Given the description of an element on the screen output the (x, y) to click on. 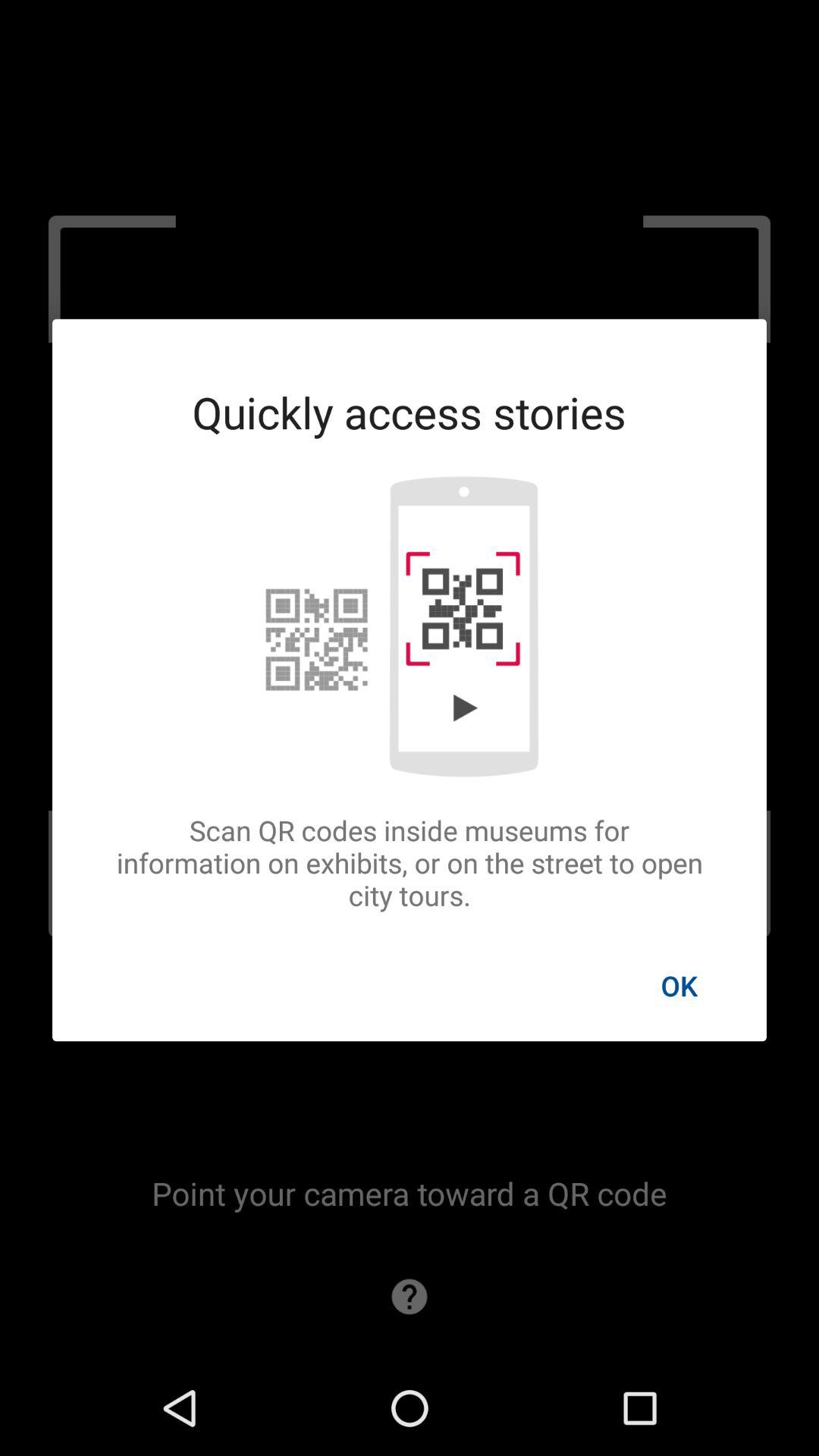
scroll until the ok (678, 985)
